Given the description of an element on the screen output the (x, y) to click on. 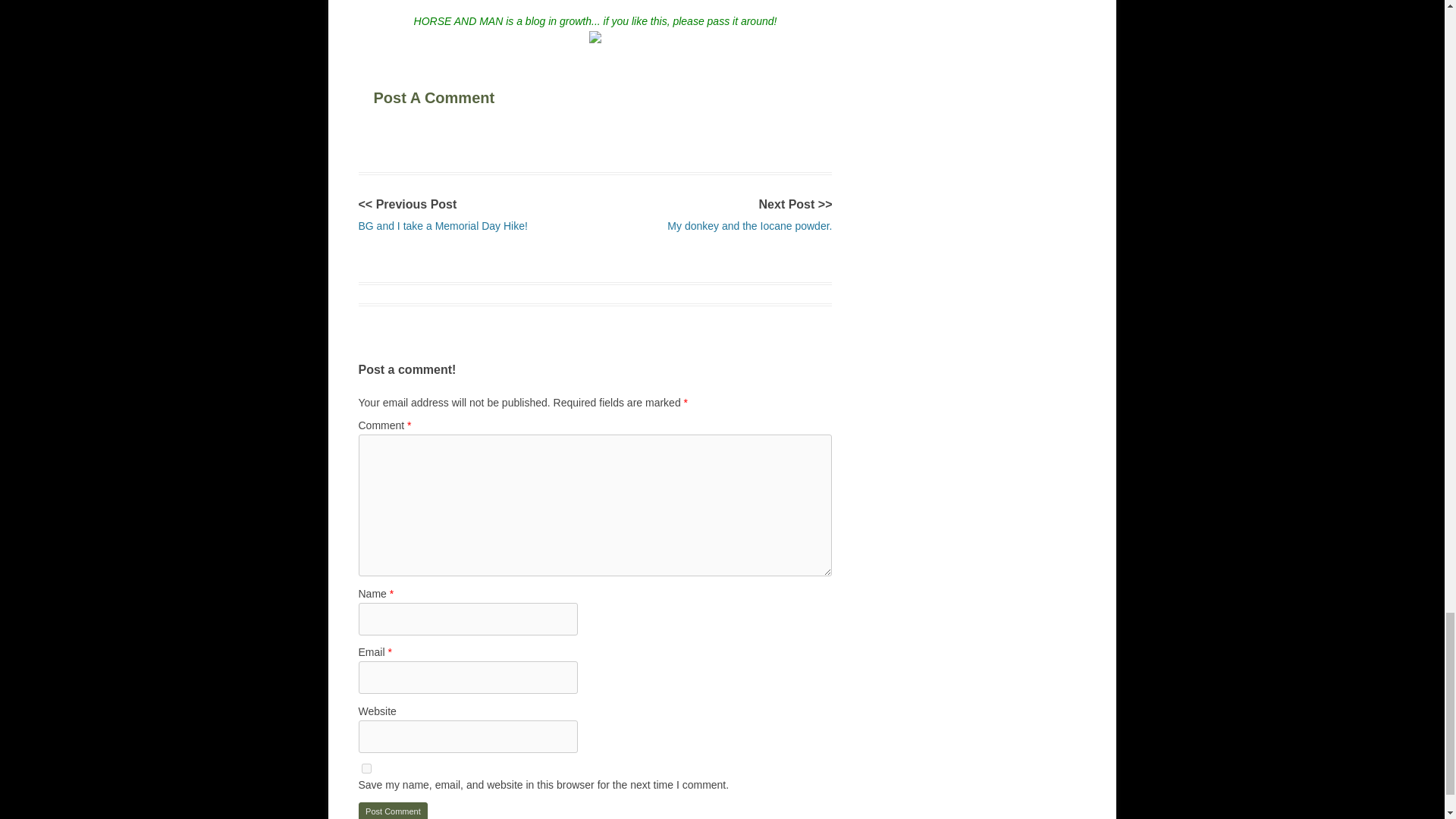
Post A Comment (465, 95)
My donkey and the Iocane powder. (748, 225)
yes (366, 768)
BG and I take a Memorial Day Hike! (442, 225)
